Given the description of an element on the screen output the (x, y) to click on. 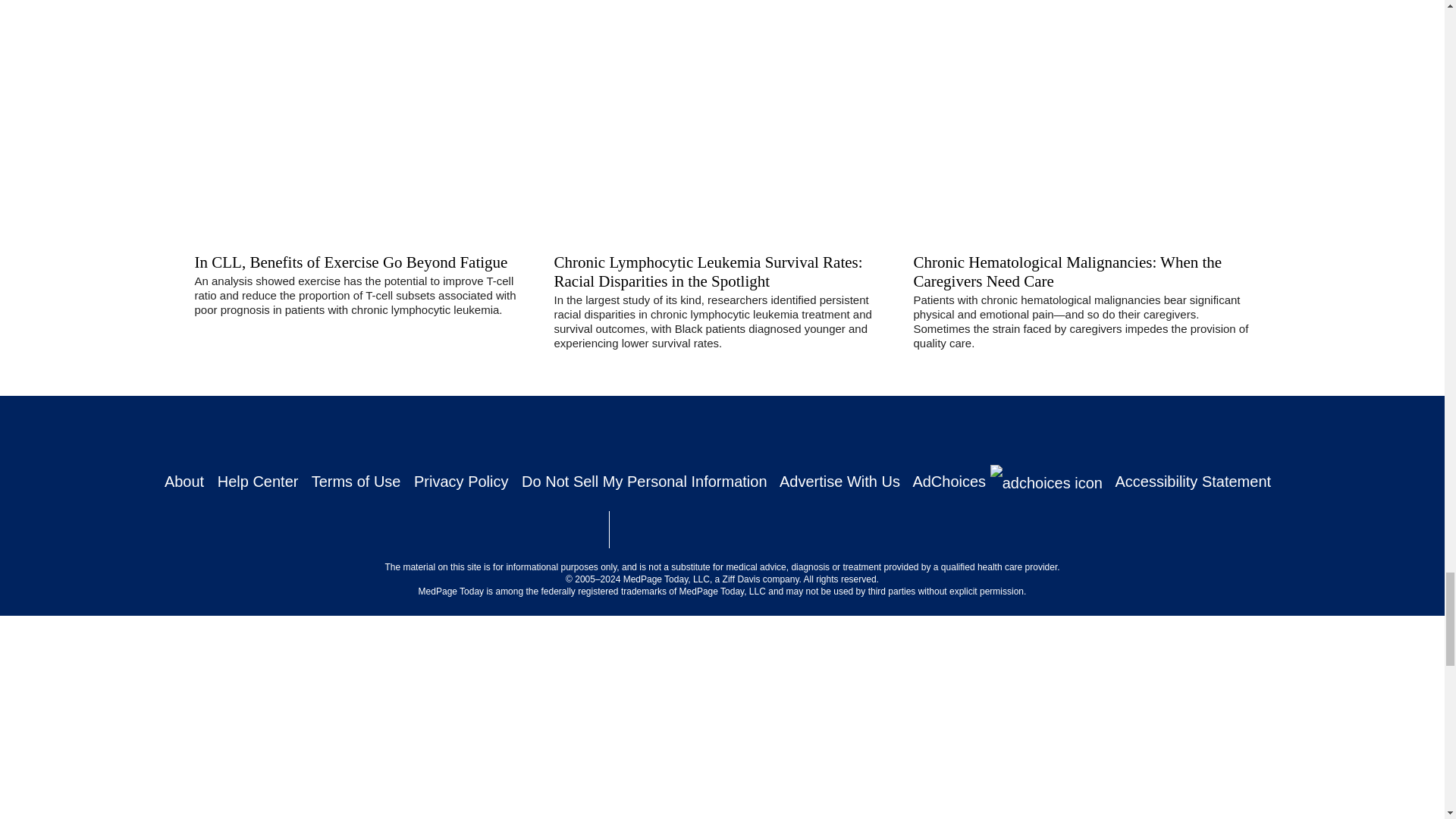
Opens in a new tab or window (933, 526)
Visit us on Instagram. Opens in a new tab or window (696, 432)
Opens in a new tab or window (532, 529)
Opens in a new tab or window (668, 529)
Visit us on X. Opens in a new tab or window (642, 432)
Opens in a new tab or window (803, 534)
Visit us on TikTok. Opens in a new tab or window (801, 432)
Visit us on LinkedIn. Opens in a new tab or window (748, 432)
Visit us on YouTube. Opens in a new tab or window (853, 432)
Visit us on Facebook. Opens in a new tab or window (590, 432)
